Given the description of an element on the screen output the (x, y) to click on. 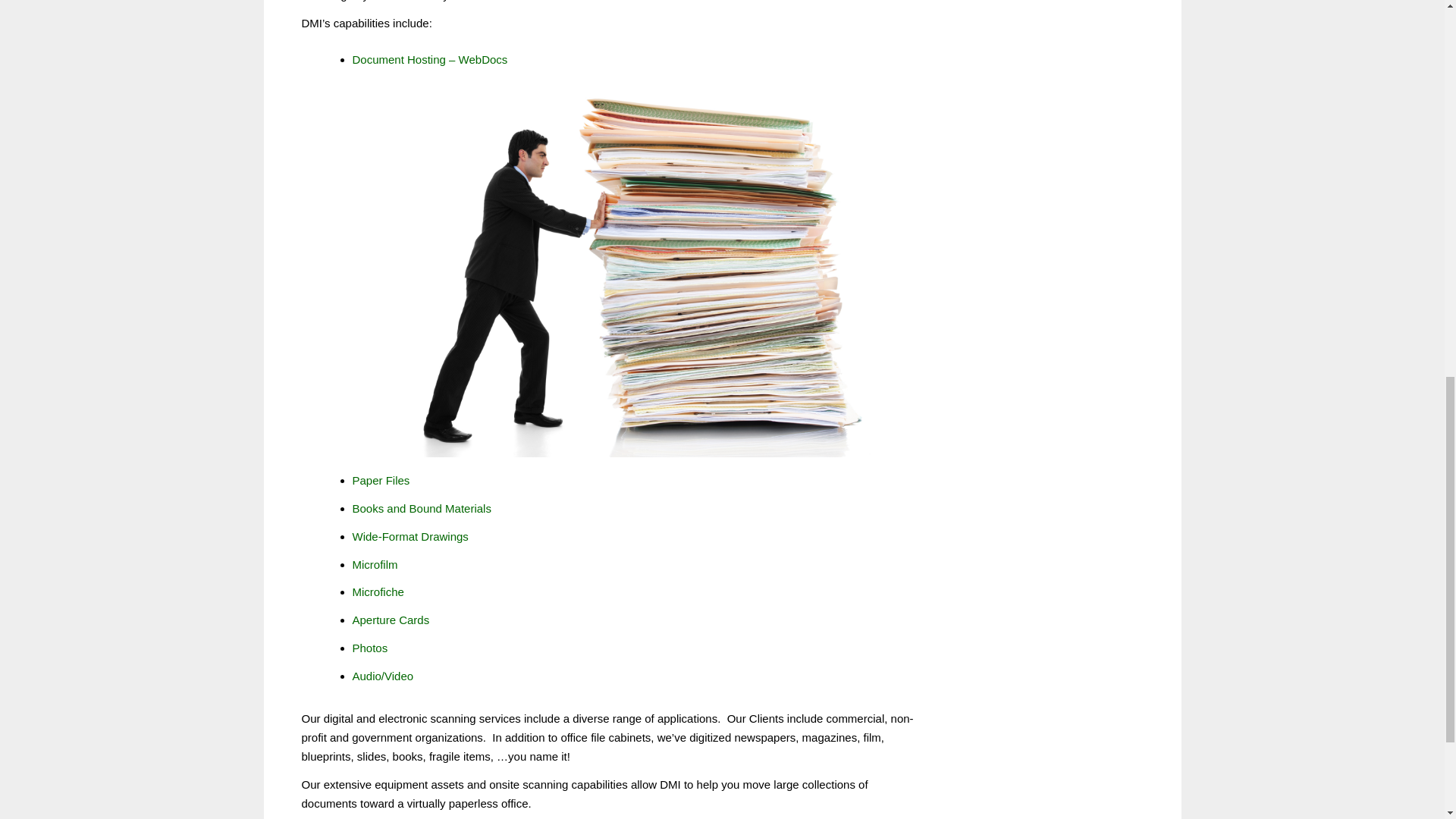
Paper Files (380, 480)
